Given the description of an element on the screen output the (x, y) to click on. 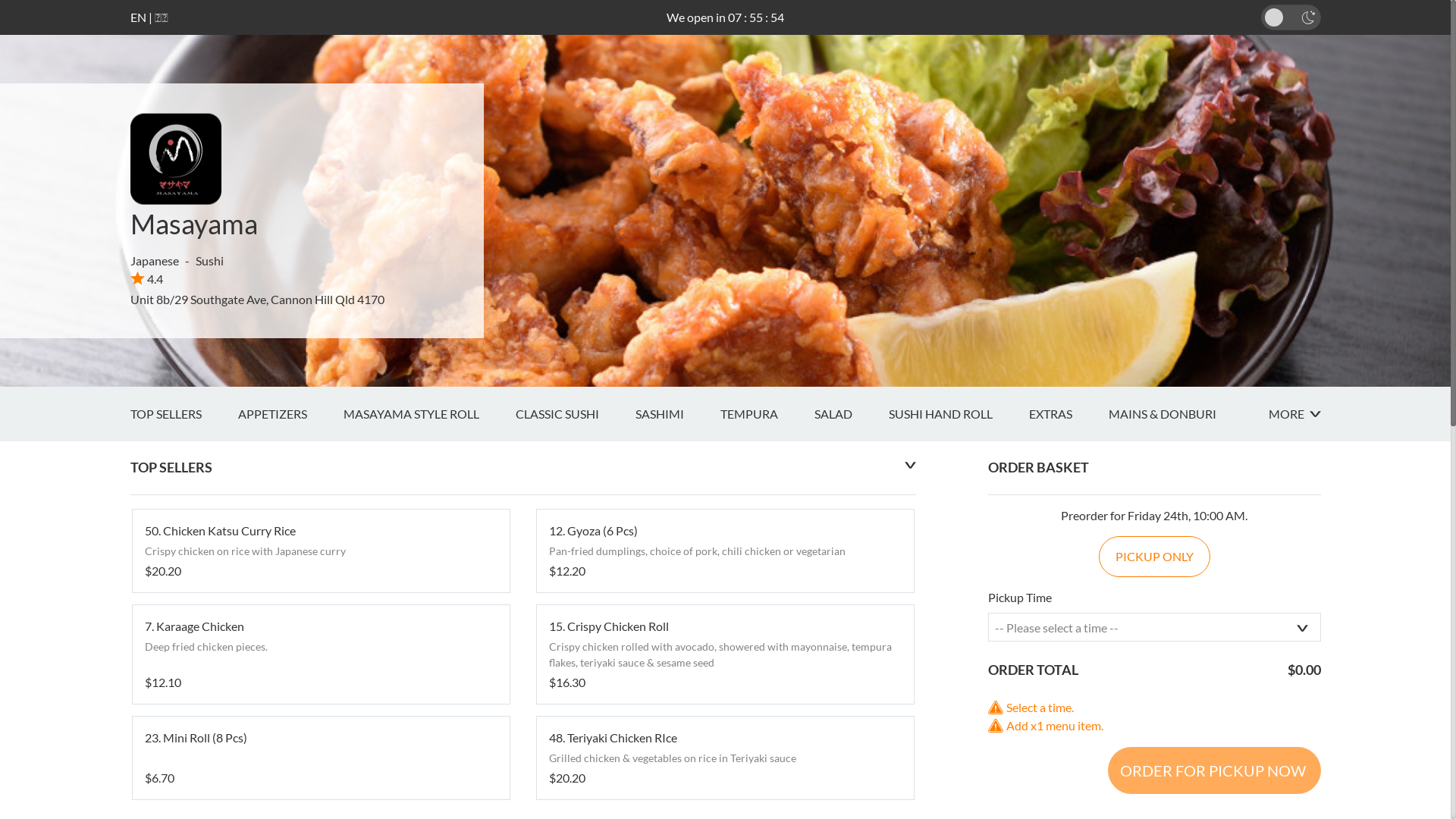
MASAYAMA STYLE ROLL Element type: text (428, 413)
MORE Element type: text (1293, 413)
EN Element type: text (138, 16)
23. Mini Roll (8 Pcs)
$6.70 Element type: text (320, 757)
4.4 Element type: text (146, 278)
SASHIMI Element type: text (677, 413)
CLASSIC SUSHI Element type: text (575, 413)
MAINS & DONBURI Element type: text (1180, 413)
APPETIZERS Element type: text (290, 413)
ORDER FOR PICKUP NOW  Element type: text (1213, 769)
7. Karaage Chicken
Deep fried chicken pieces.
$12.10 Element type: text (320, 654)
Masayama Element type: text (193, 223)
SUSHI HAND ROLL Element type: text (958, 413)
7. Karaage Chicken
Deep fried chicken pieces.
$12.10 Element type: text (320, 654)
PICKUP ONLY Element type: text (1154, 556)
TEMPURA Element type: text (767, 413)
23. Mini Roll (8 Pcs)
$6.70 Element type: text (320, 757)
TOP SELLERS Element type: text (184, 413)
SALAD Element type: text (851, 413)
EXTRAS Element type: text (1067, 413)
